Given the description of an element on the screen output the (x, y) to click on. 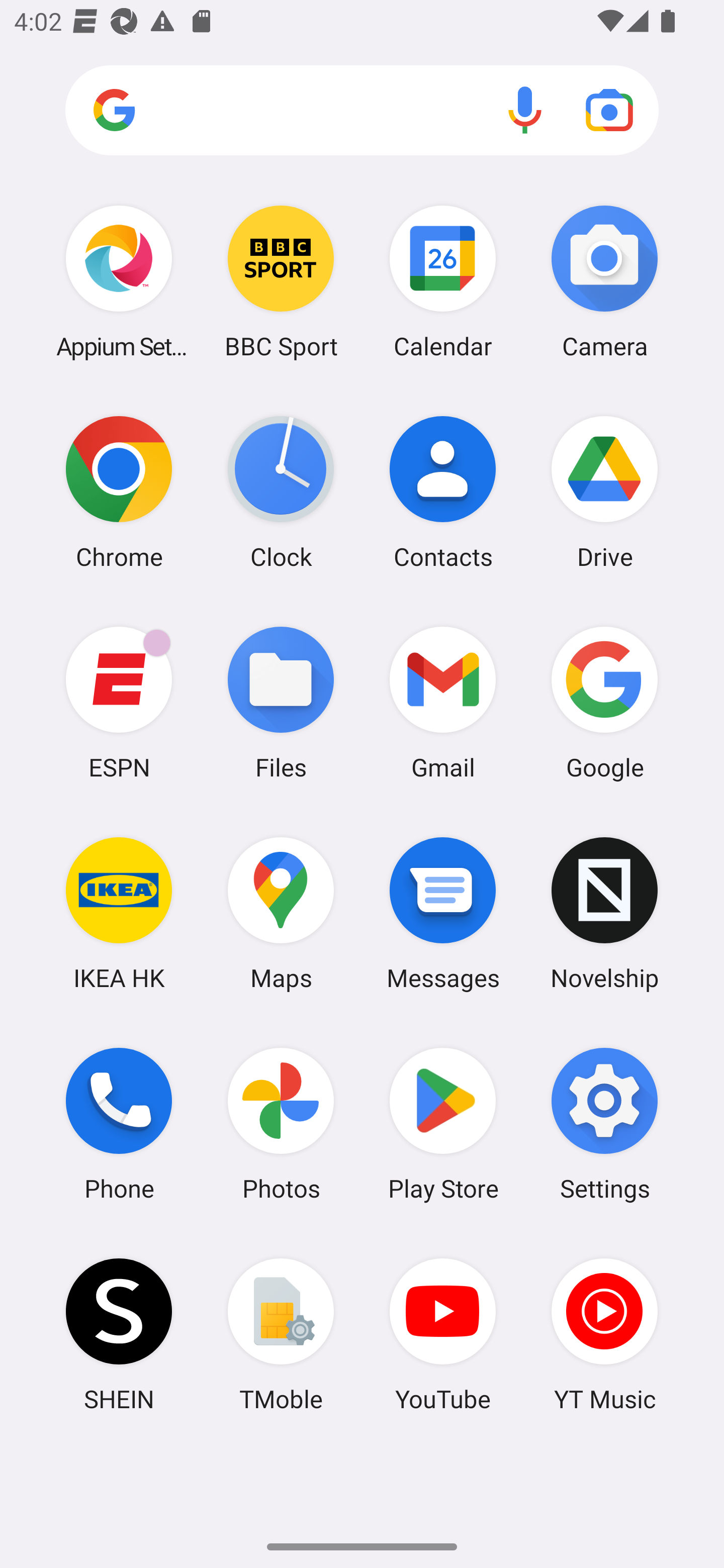
Search apps, web and more (361, 110)
Voice search (524, 109)
Google Lens (608, 109)
Appium Settings (118, 281)
BBC Sport (280, 281)
Calendar (443, 281)
Camera (604, 281)
Chrome (118, 492)
Clock (280, 492)
Contacts (443, 492)
Drive (604, 492)
ESPN ESPN has 3 notifications (118, 702)
Files (280, 702)
Gmail (443, 702)
Google (604, 702)
IKEA HK (118, 913)
Maps (280, 913)
Messages (443, 913)
Novelship (604, 913)
Phone (118, 1124)
Photos (280, 1124)
Play Store (443, 1124)
Settings (604, 1124)
SHEIN (118, 1334)
TMoble (280, 1334)
YouTube (443, 1334)
YT Music (604, 1334)
